Given the description of an element on the screen output the (x, y) to click on. 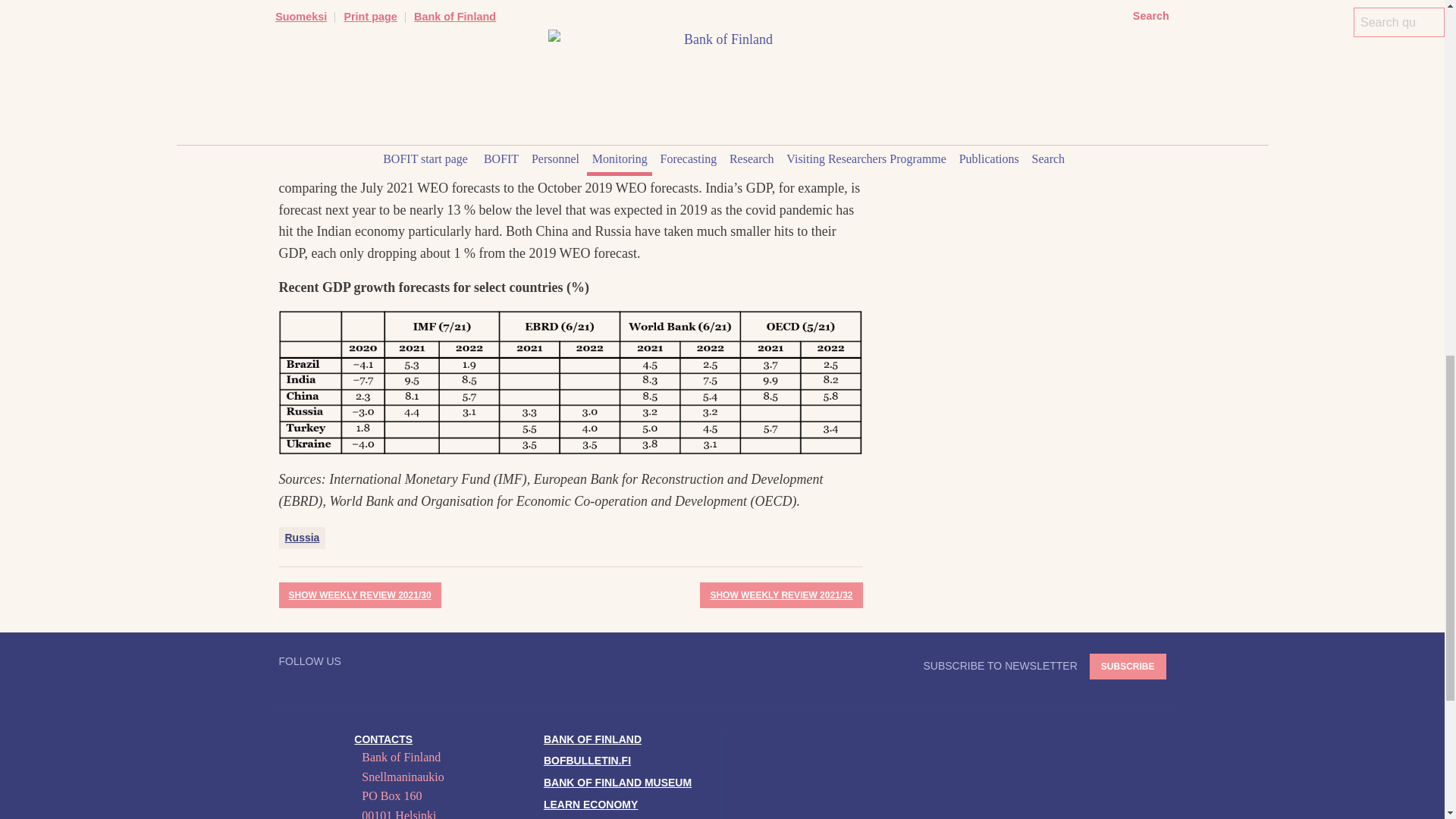
Contacts (382, 739)
bofbulletin.fi (586, 760)
Open keyword search using term Russia (302, 537)
Bank of Finland museum (617, 782)
